Given the description of an element on the screen output the (x, y) to click on. 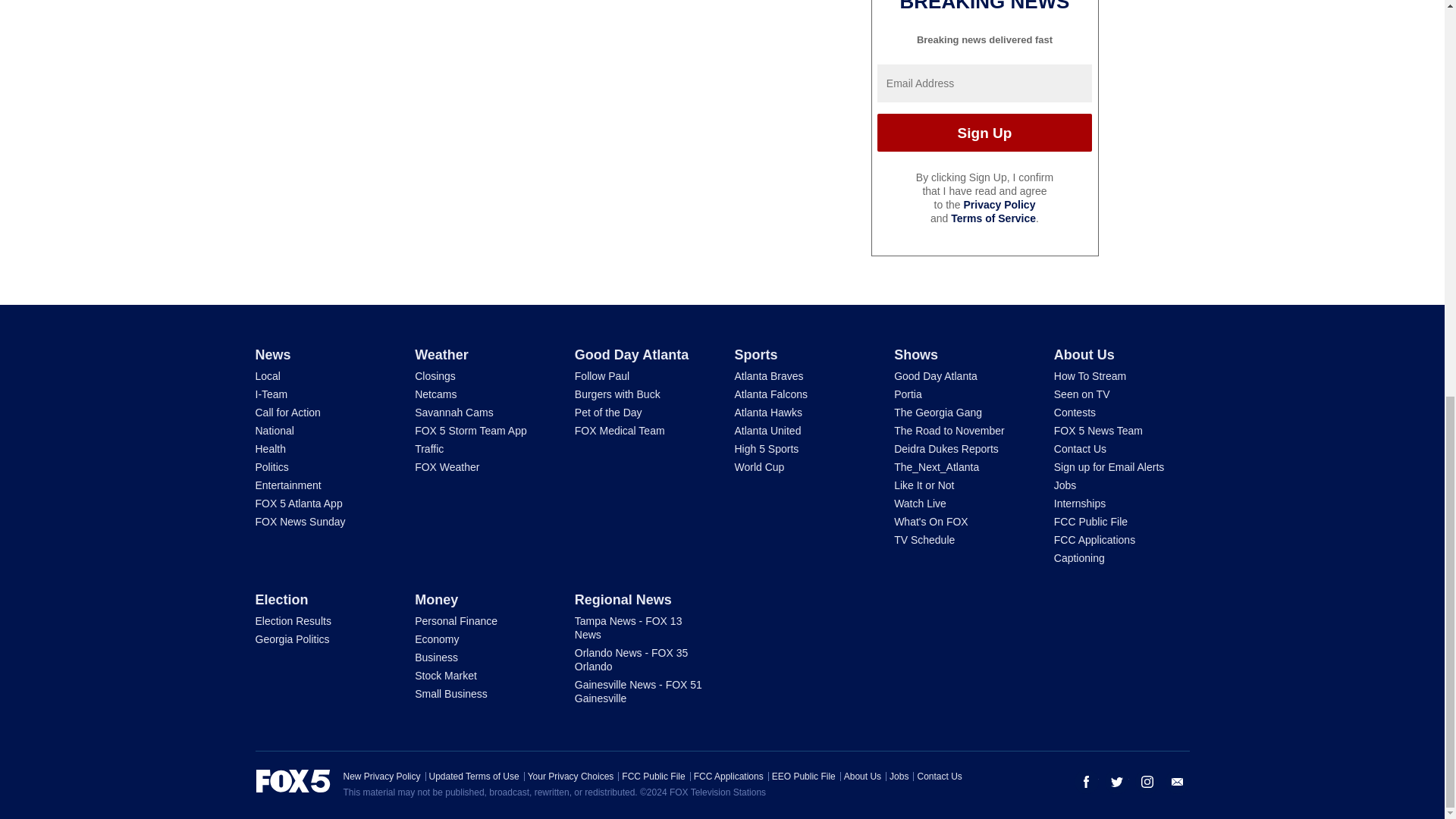
Sign Up (984, 132)
